Given the description of an element on the screen output the (x, y) to click on. 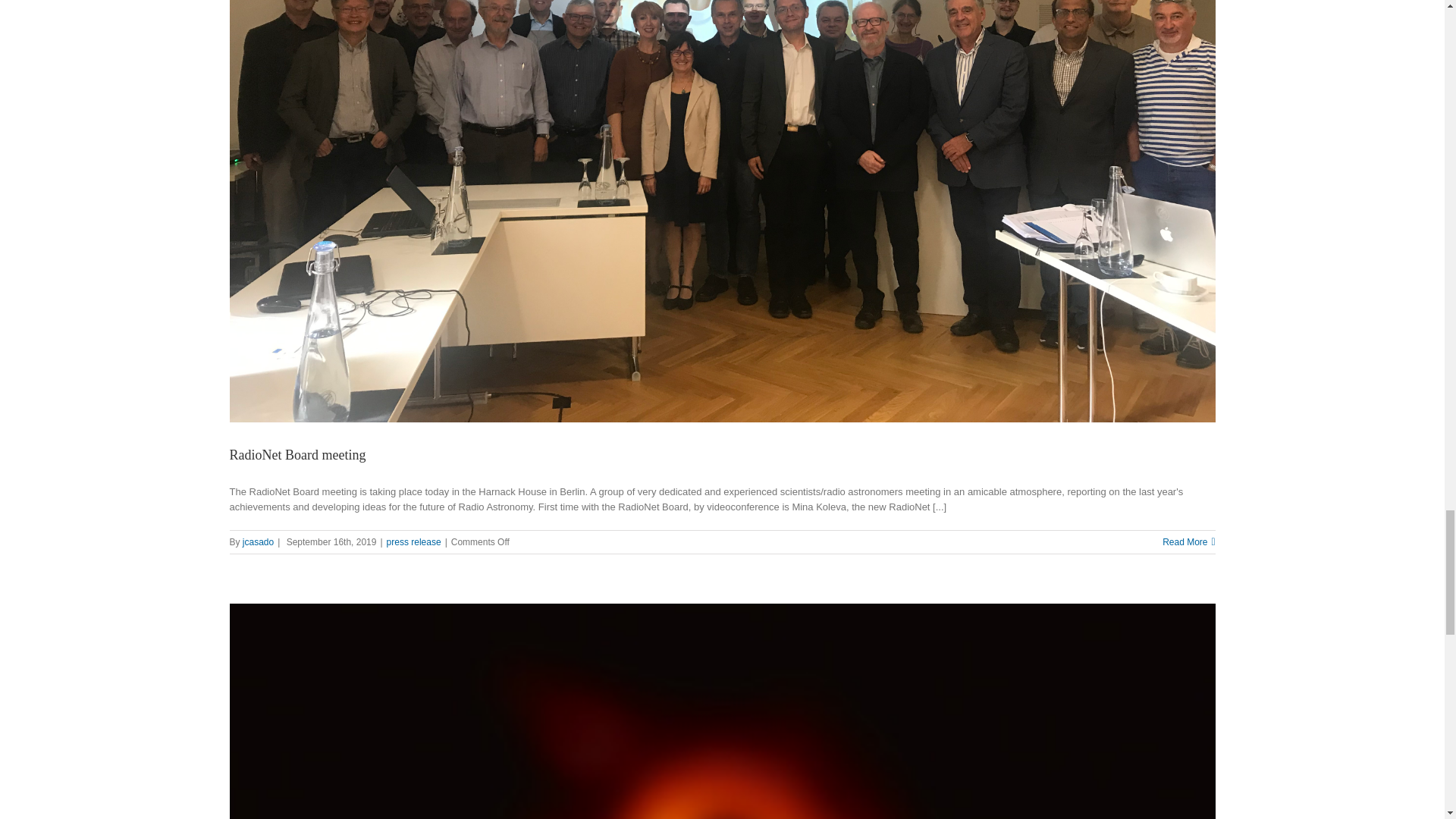
Posts by jcasado (258, 542)
